Given the description of an element on the screen output the (x, y) to click on. 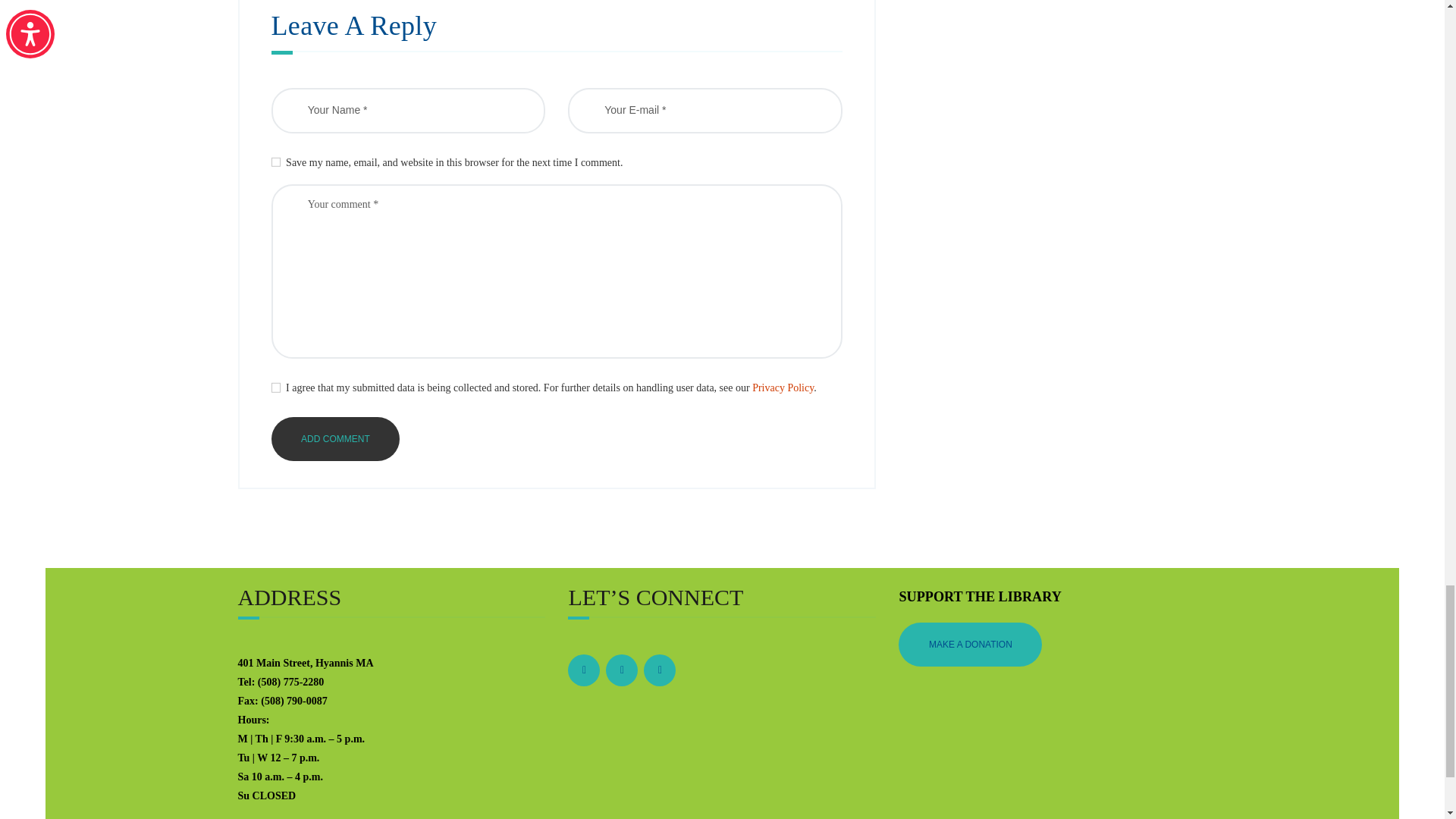
Add Comment (335, 438)
